Given the description of an element on the screen output the (x, y) to click on. 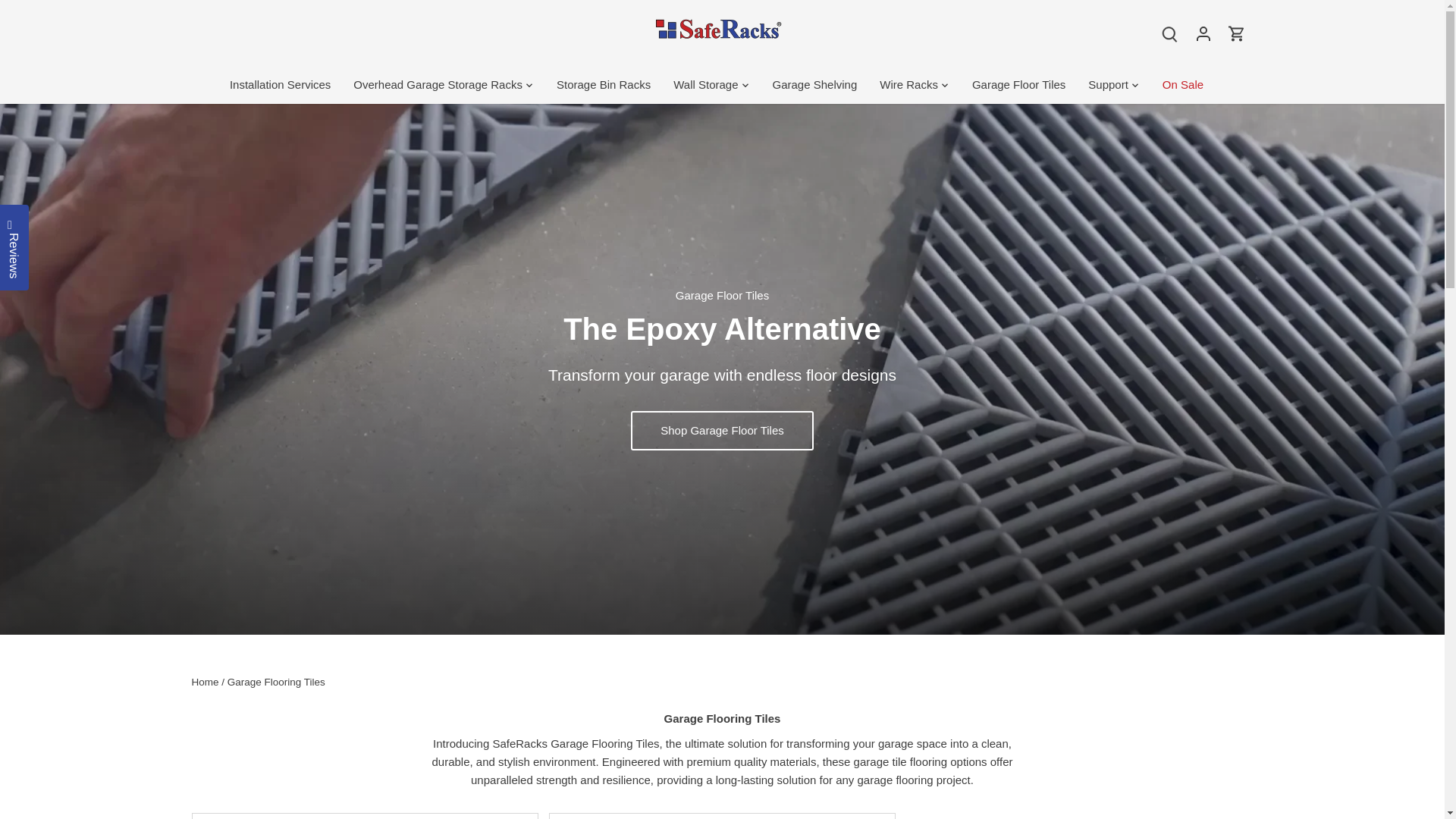
Support (1108, 85)
Storage Bin Racks (603, 85)
Installation Services (286, 85)
Overhead Garage Storage Racks (438, 85)
Wall Storage (705, 85)
Garage Shelving (815, 85)
On Sale (1182, 85)
Wire Racks (908, 85)
Shop Garage Floor Tiles (721, 430)
Garage Floor Tiles (1018, 85)
